Given the description of an element on the screen output the (x, y) to click on. 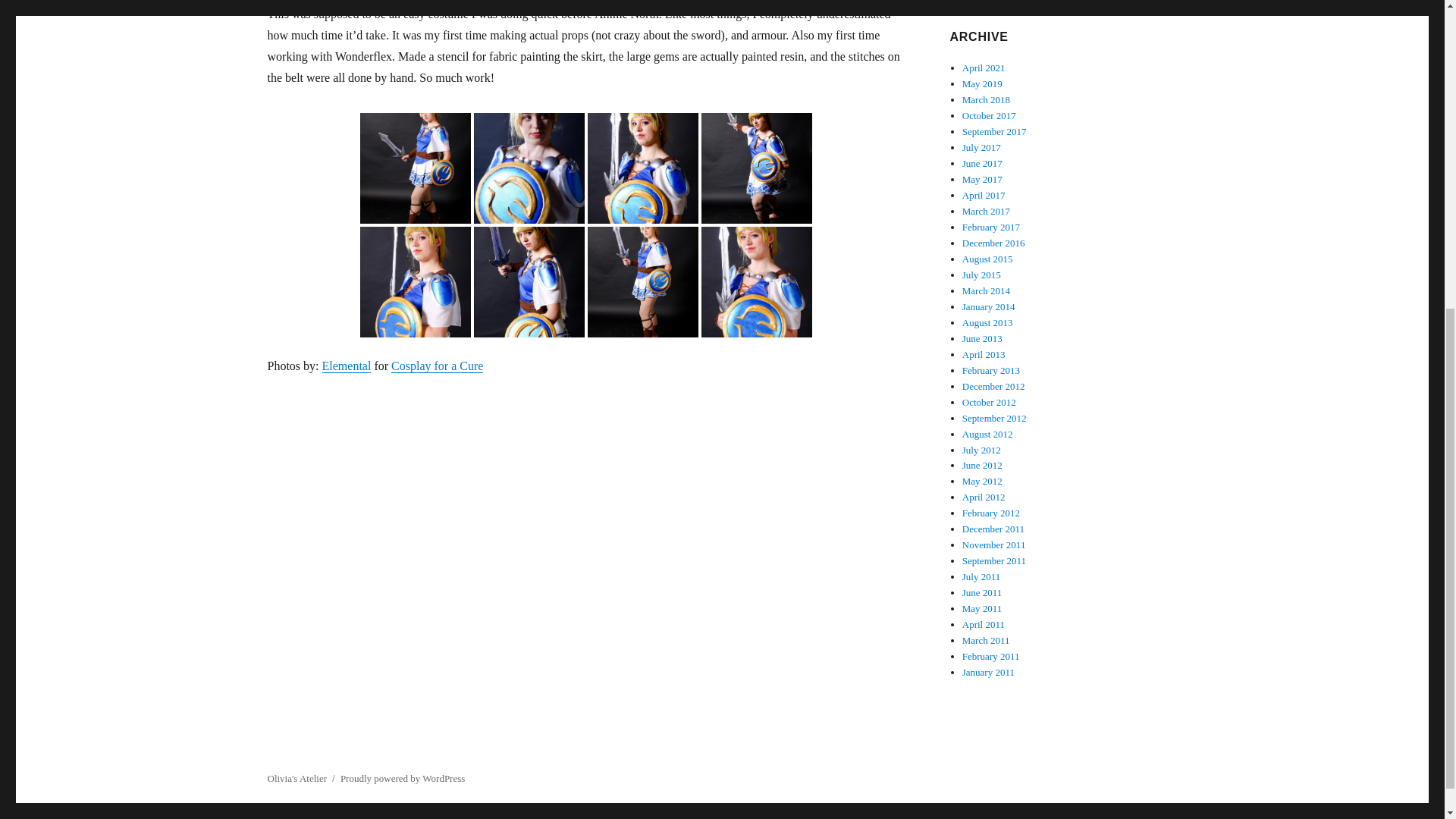
October 2017 (989, 115)
March 2018 (986, 99)
April 2021 (984, 67)
Cosplay for a Cure (437, 365)
Elemental (346, 365)
September 2017 (994, 131)
May 2019 (982, 83)
